Given the description of an element on the screen output the (x, y) to click on. 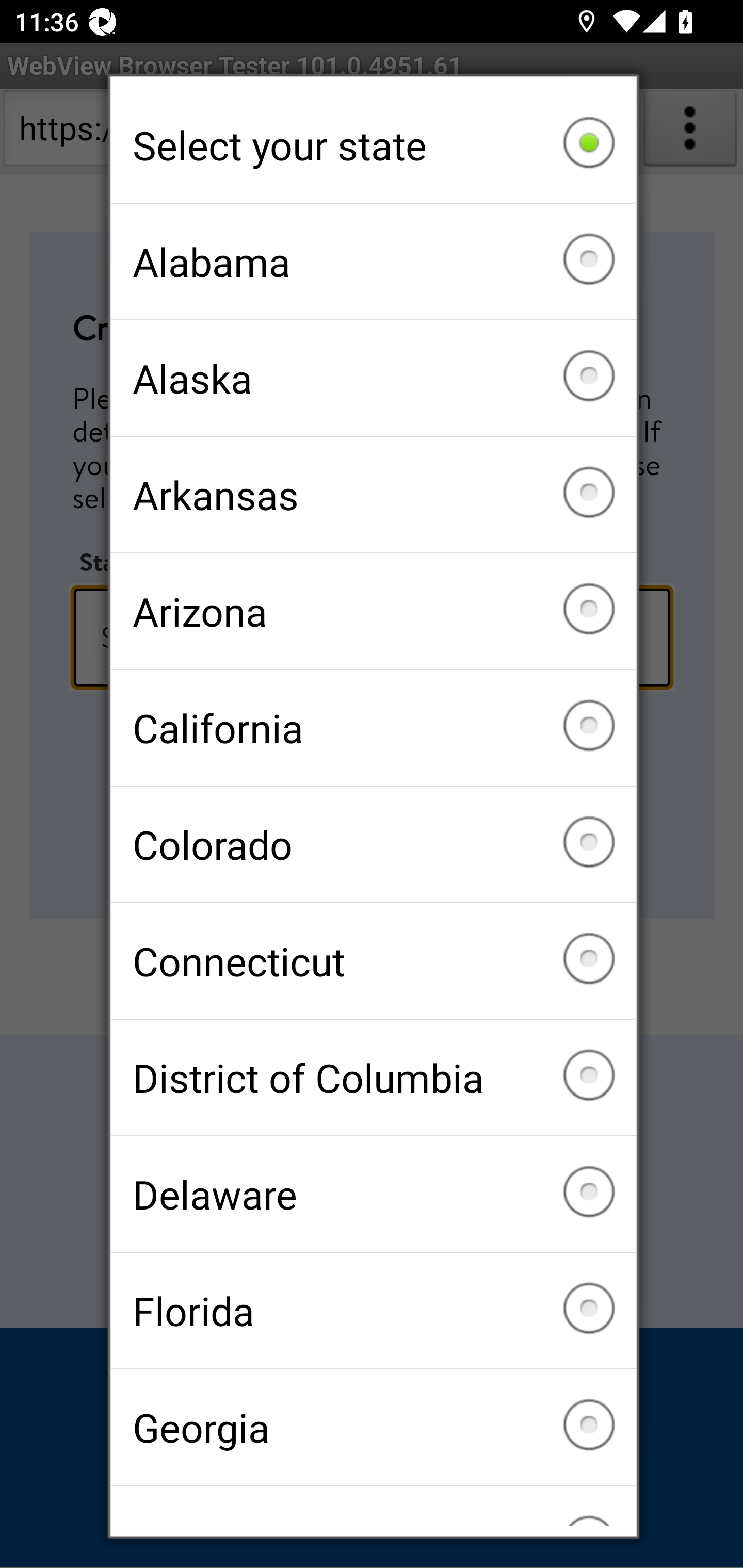
Select your state (373, 144)
Alabama (373, 261)
Alaska (373, 377)
Arkansas (373, 494)
Arizona (373, 611)
California (373, 727)
Colorado (373, 844)
Connecticut (373, 961)
District of Columbia (373, 1077)
Delaware (373, 1193)
Florida (373, 1310)
Georgia (373, 1426)
